Given the description of an element on the screen output the (x, y) to click on. 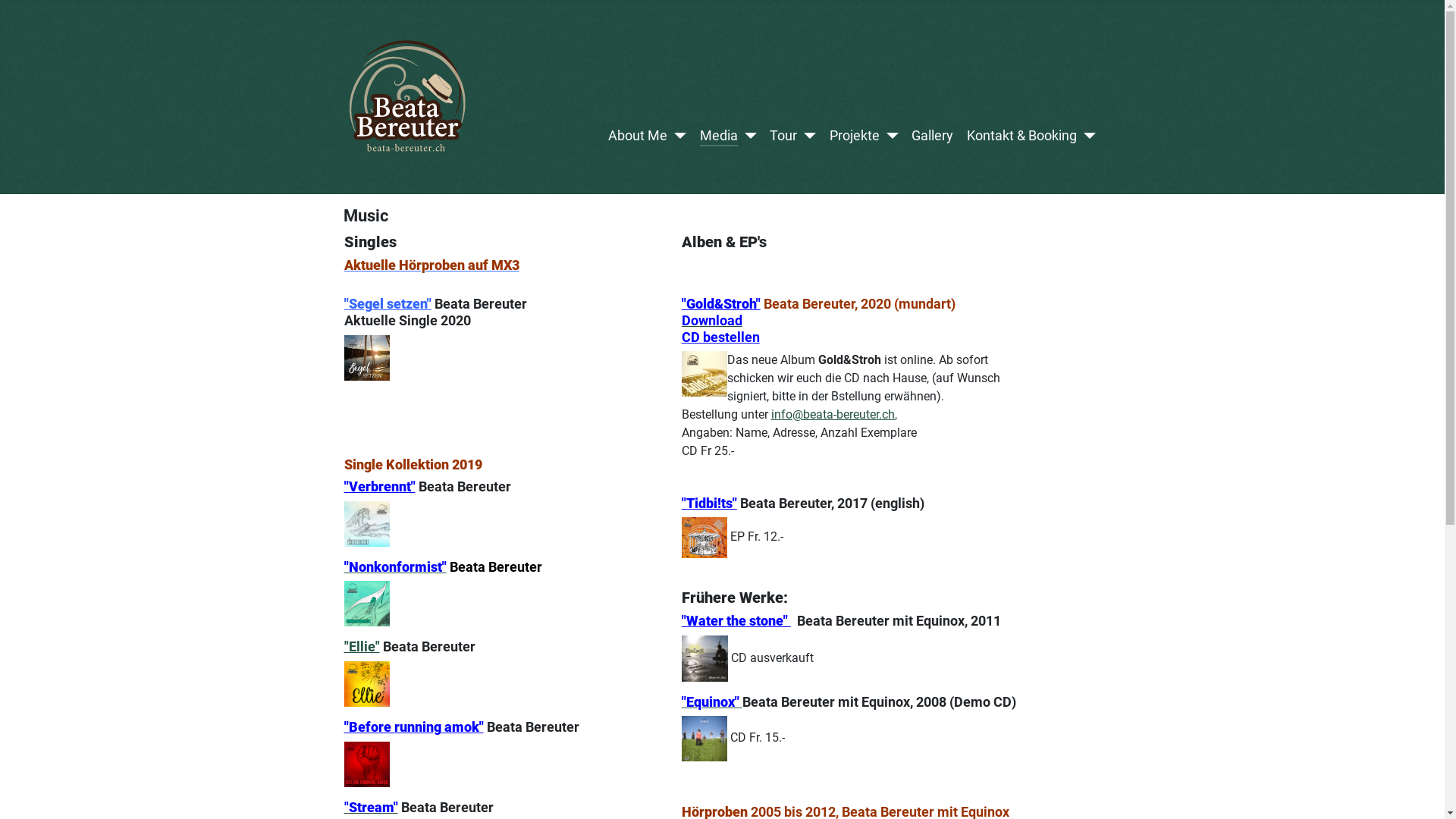
"Ellie" Element type: text (361, 646)
Media Element type: text (718, 135)
"Segel setzen" Element type: text (387, 303)
Kontakt & Booking Element type: text (1021, 135)
Gallery Element type: text (932, 135)
Tour Element type: text (783, 135)
info@beata-bereuter.ch Element type: text (832, 414)
" Element type: text (346, 807)
"Equinox" Element type: text (711, 701)
About Me Element type: text (637, 135)
"Water the stone"  Element type: text (735, 620)
Download Element type: text (711, 320)
"Tidbi!ts" Element type: text (709, 503)
info@beata-bereuter.ch, Element type: text (834, 414)
"Verbrennt" Element type: text (379, 486)
"Gold&Stroh" Element type: text (720, 303)
CD bestellen Element type: text (720, 337)
Projekte Element type: text (854, 135)
Stream" Element type: text (373, 807)
"Before running amok" Element type: text (413, 726)
"Nonkonformist" Element type: text (395, 566)
